Given the description of an element on the screen output the (x, y) to click on. 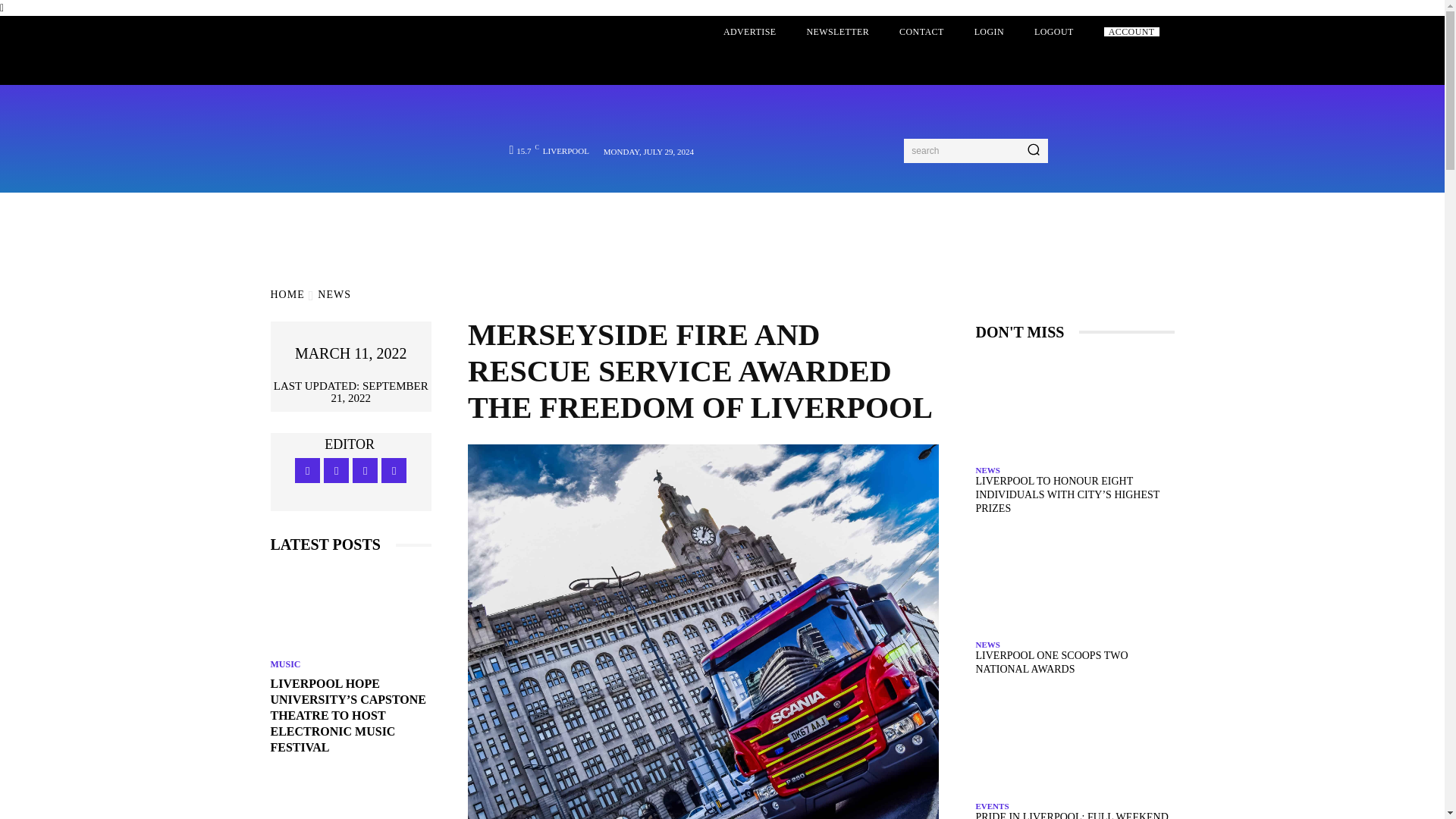
logo (368, 118)
